Given the description of an element on the screen output the (x, y) to click on. 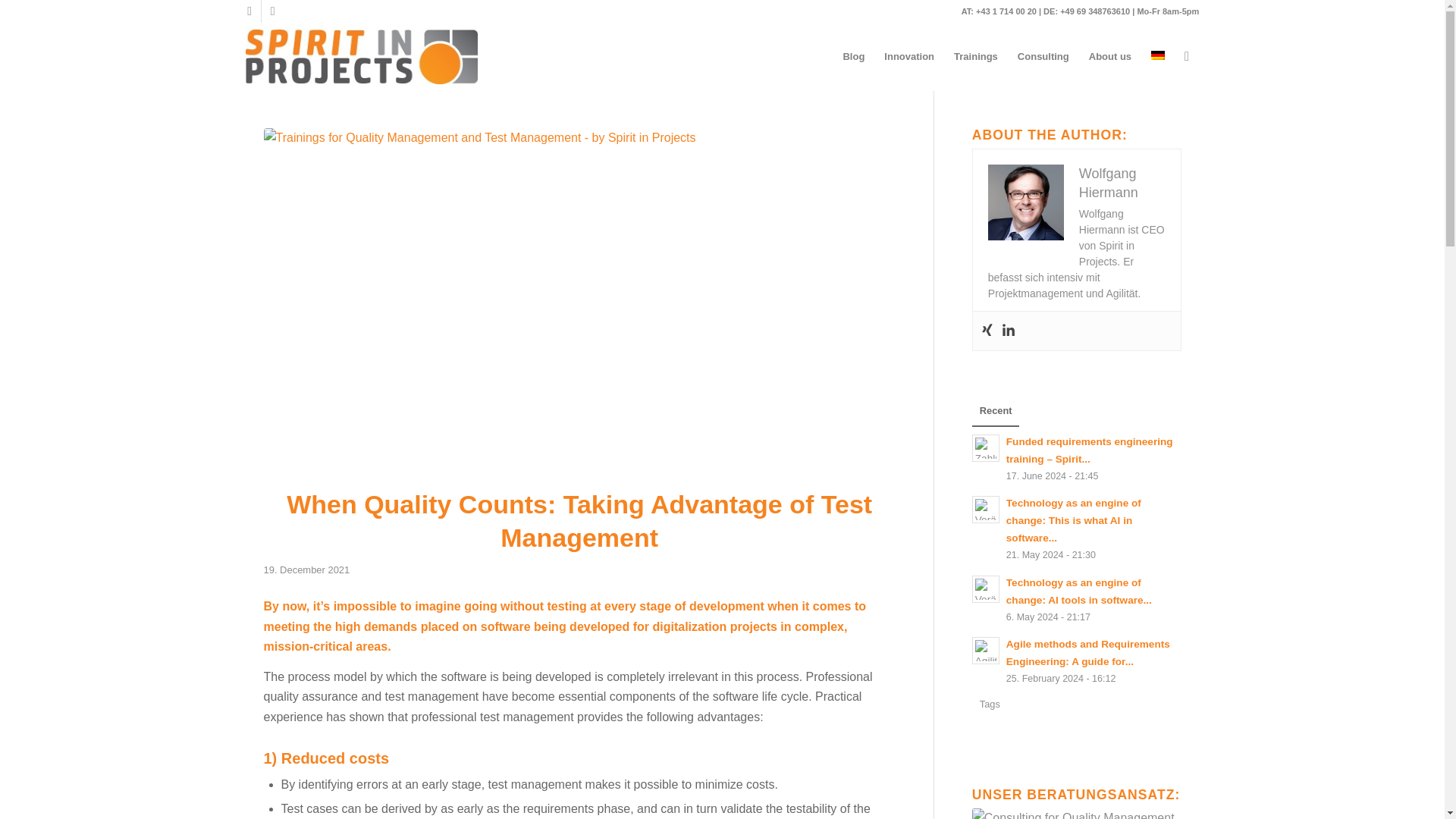
LinkedIn (272, 11)
Innovation (909, 56)
Xing (249, 11)
